Given the description of an element on the screen output the (x, y) to click on. 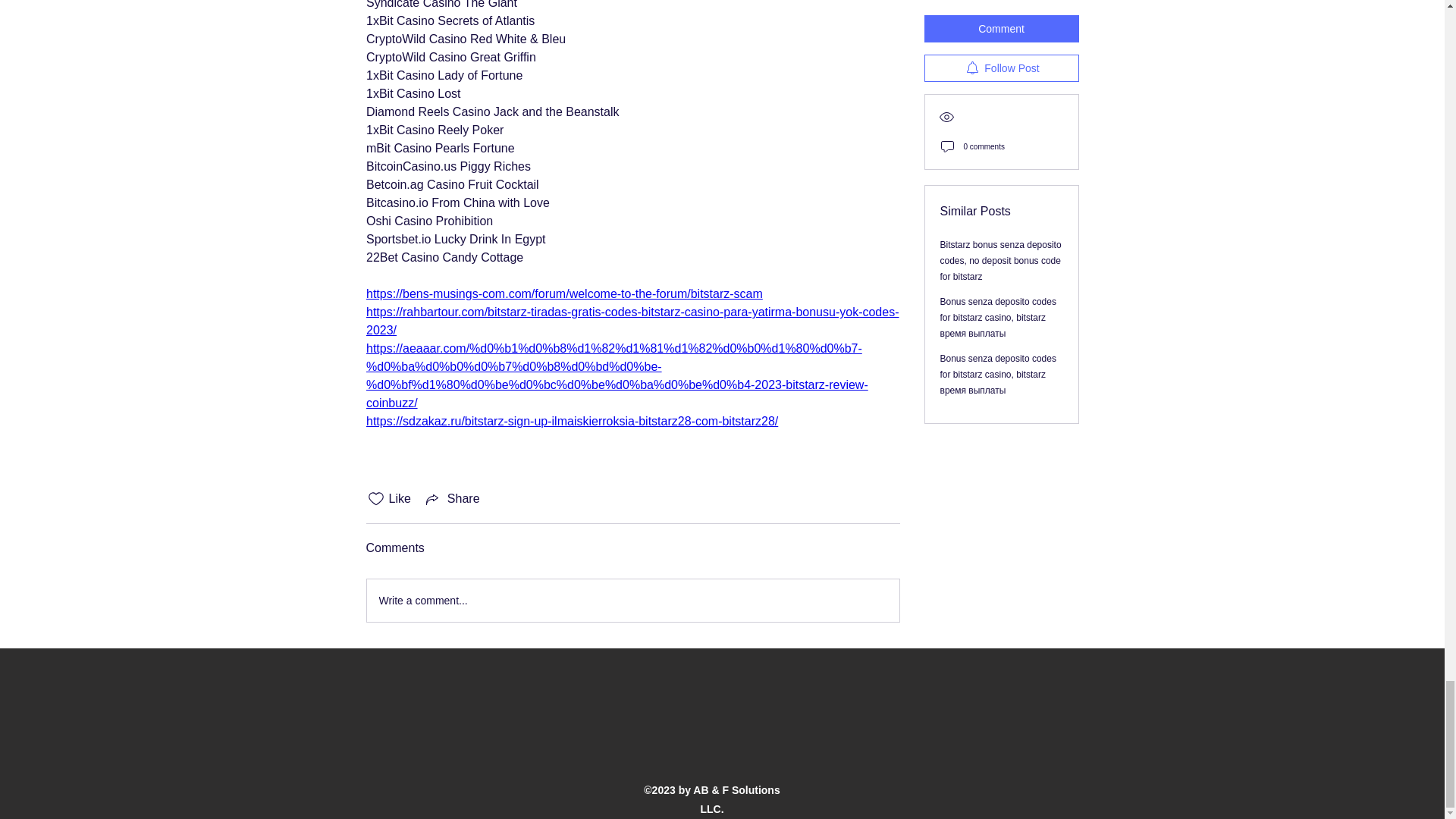
Share (451, 498)
Write a comment... (632, 600)
